Given the description of an element on the screen output the (x, y) to click on. 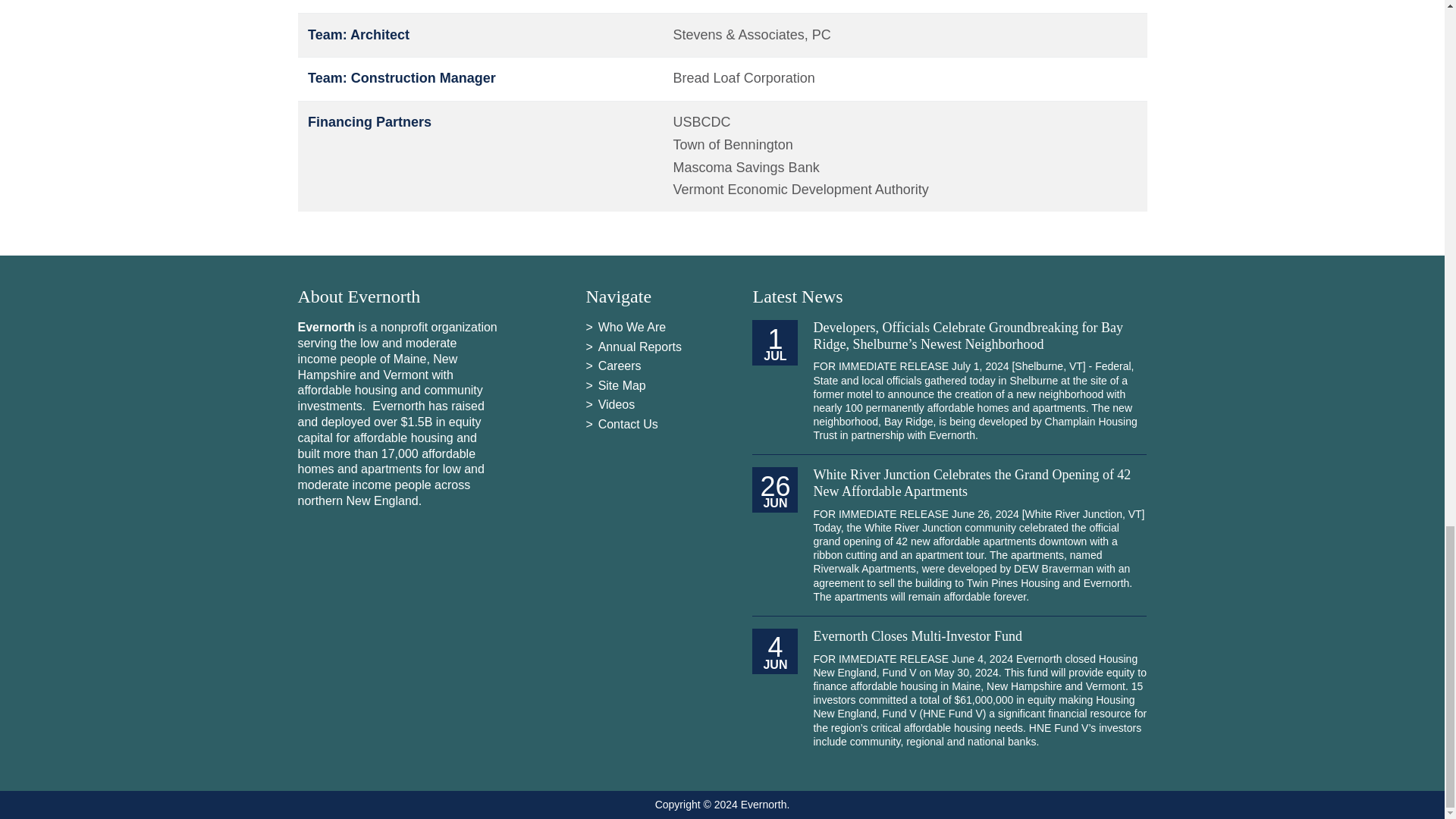
Careers (620, 365)
Contact Us (628, 423)
Site Map (622, 385)
Who We Are (632, 327)
Evernorth Closes Multi-Investor Fund (917, 635)
Videos (616, 404)
Annual Reports (639, 346)
